Given the description of an element on the screen output the (x, y) to click on. 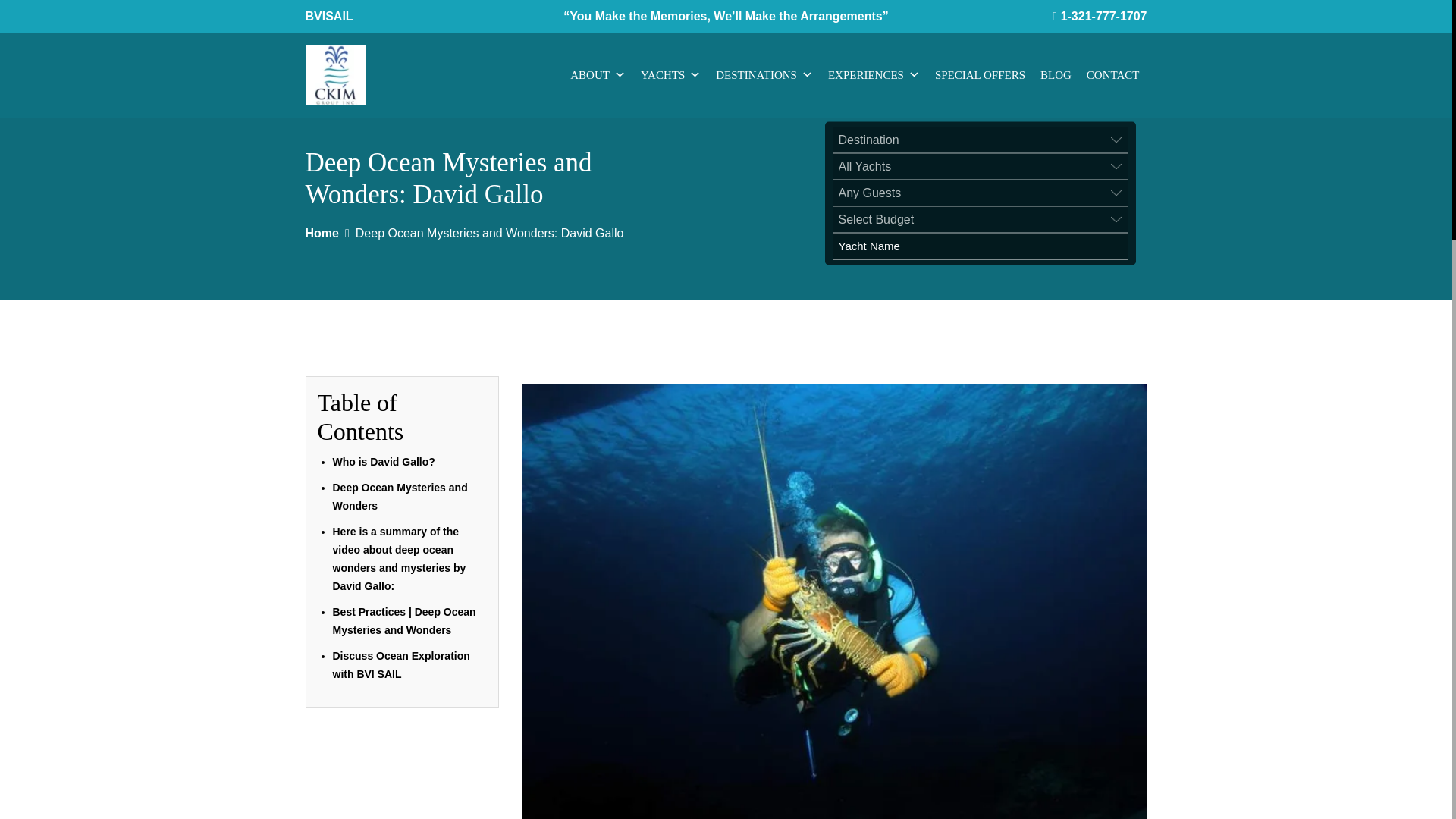
EXPERIENCES (874, 74)
YACHTS (670, 74)
1-321-777-1707 (1104, 15)
DESTINATIONS (764, 74)
ABOUT (597, 74)
